Given the description of an element on the screen output the (x, y) to click on. 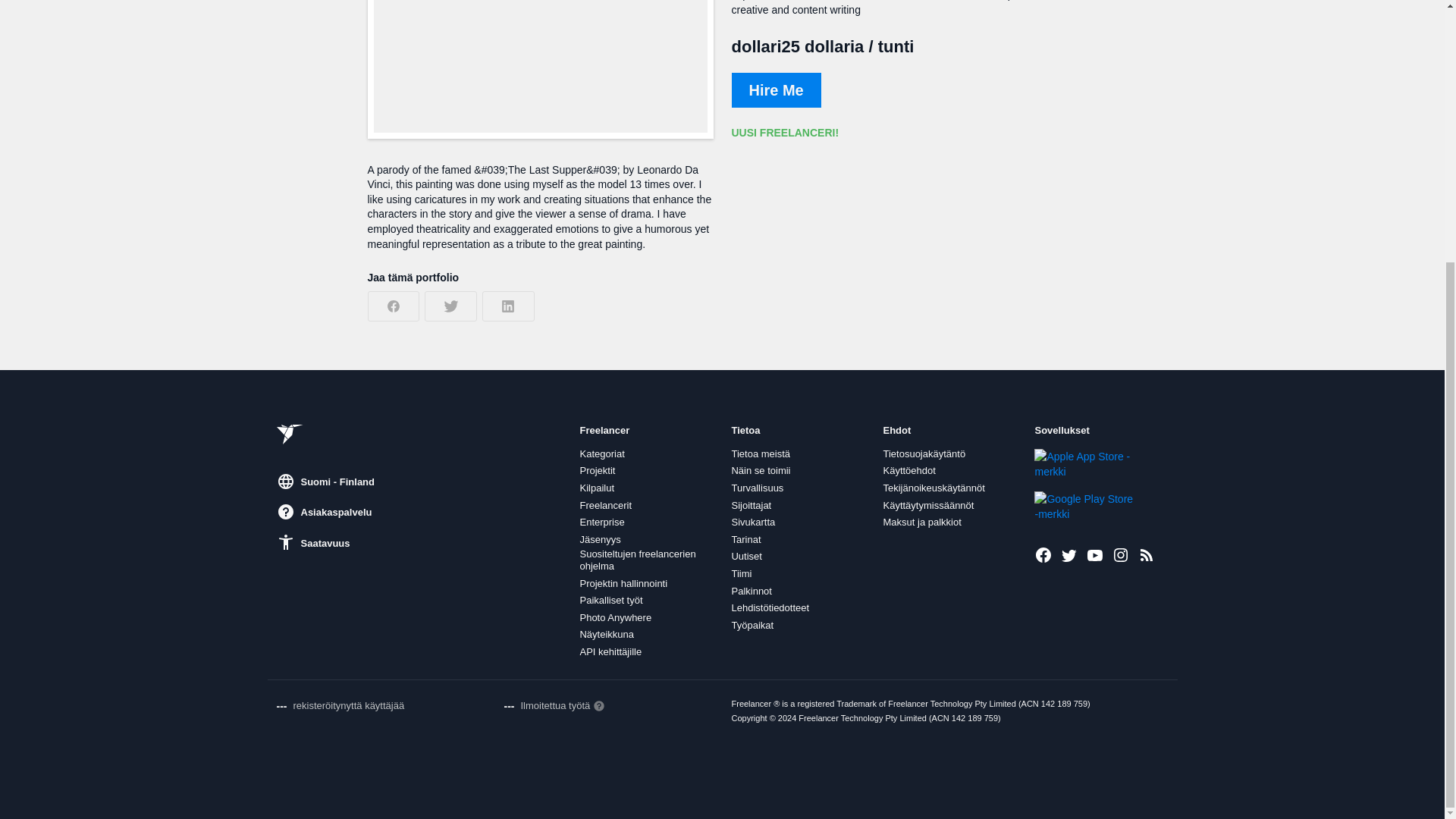
Freelancerit (605, 505)
Kilpailut (596, 488)
Hanki Google Playsta (1085, 506)
Hire Me (775, 89)
Tarinat (745, 539)
Tiimi (740, 573)
Suomi - Finland (325, 473)
Sivukartta (752, 522)
Freelancer Youtubessa (1094, 555)
Uutiset (745, 556)
